Given the description of an element on the screen output the (x, y) to click on. 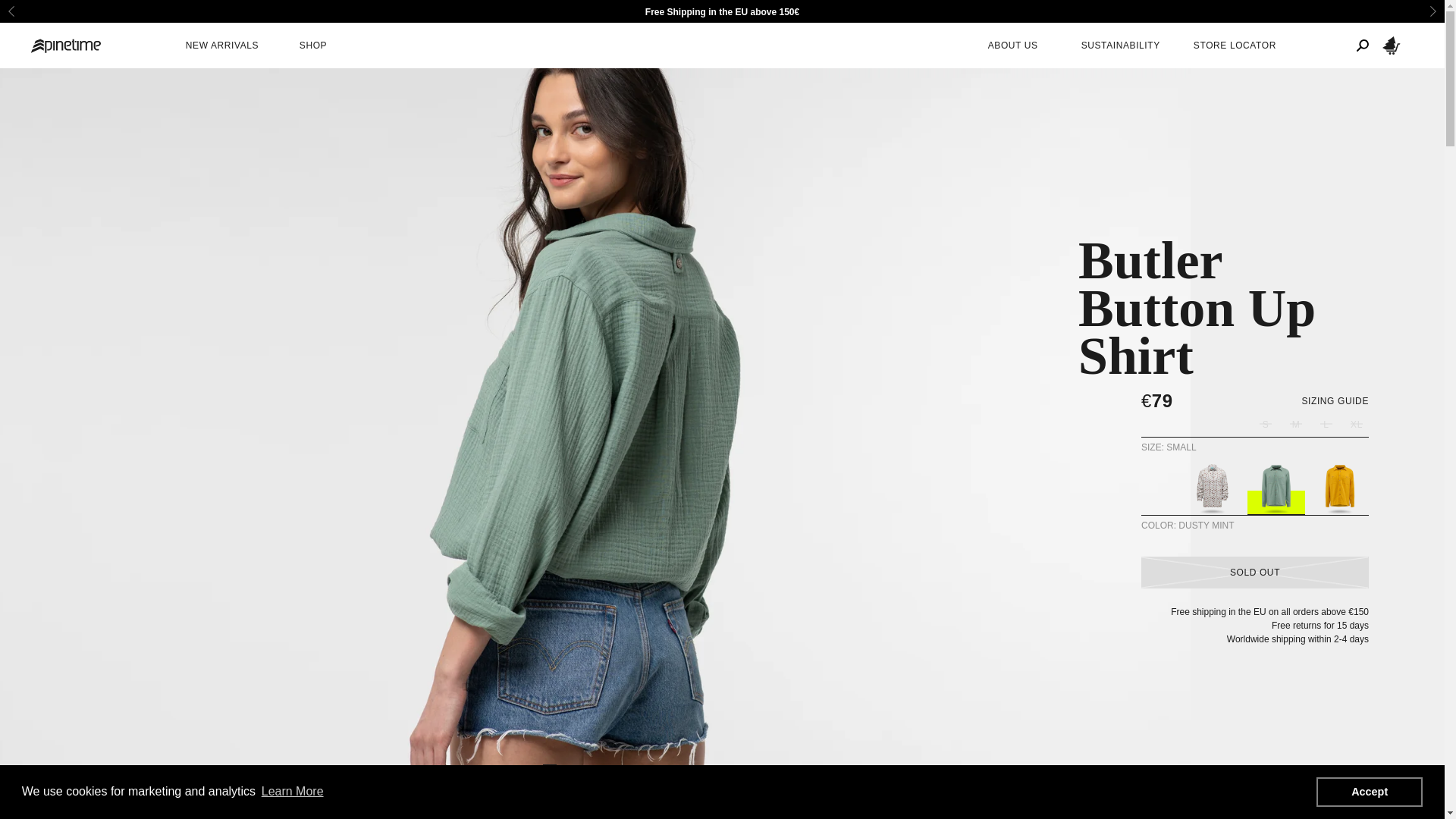
CLEANING AND CARE (669, 815)
SHOWCASE (358, 816)
Sizing guide (1334, 400)
SHOWCASE (358, 815)
DETAILS (438, 815)
SHOWCASE (358, 815)
Sustainability (1120, 44)
OVERVIEW (273, 816)
Store locator (1234, 44)
TECHNICAL DETAILS (536, 816)
About us (1012, 44)
OVERVIEW (274, 815)
CLEANING AND CARE (668, 816)
TECHNICAL DETAILS (537, 815)
Accept (1369, 791)
